Given the description of an element on the screen output the (x, y) to click on. 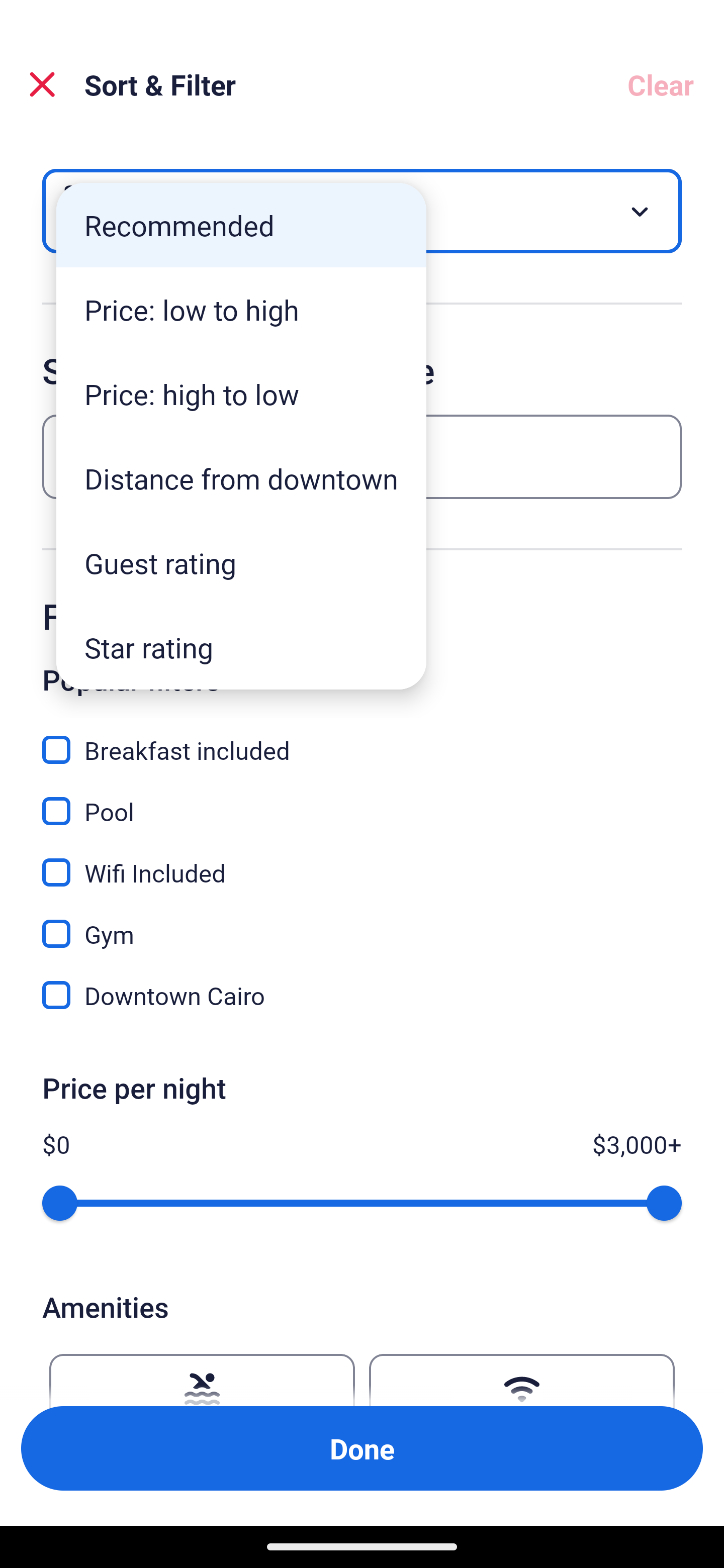
Price: low to high (241, 309)
Price: high to low (241, 393)
Distance from downtown (241, 477)
Guest rating (241, 562)
Star rating (241, 647)
